Given the description of an element on the screen output the (x, y) to click on. 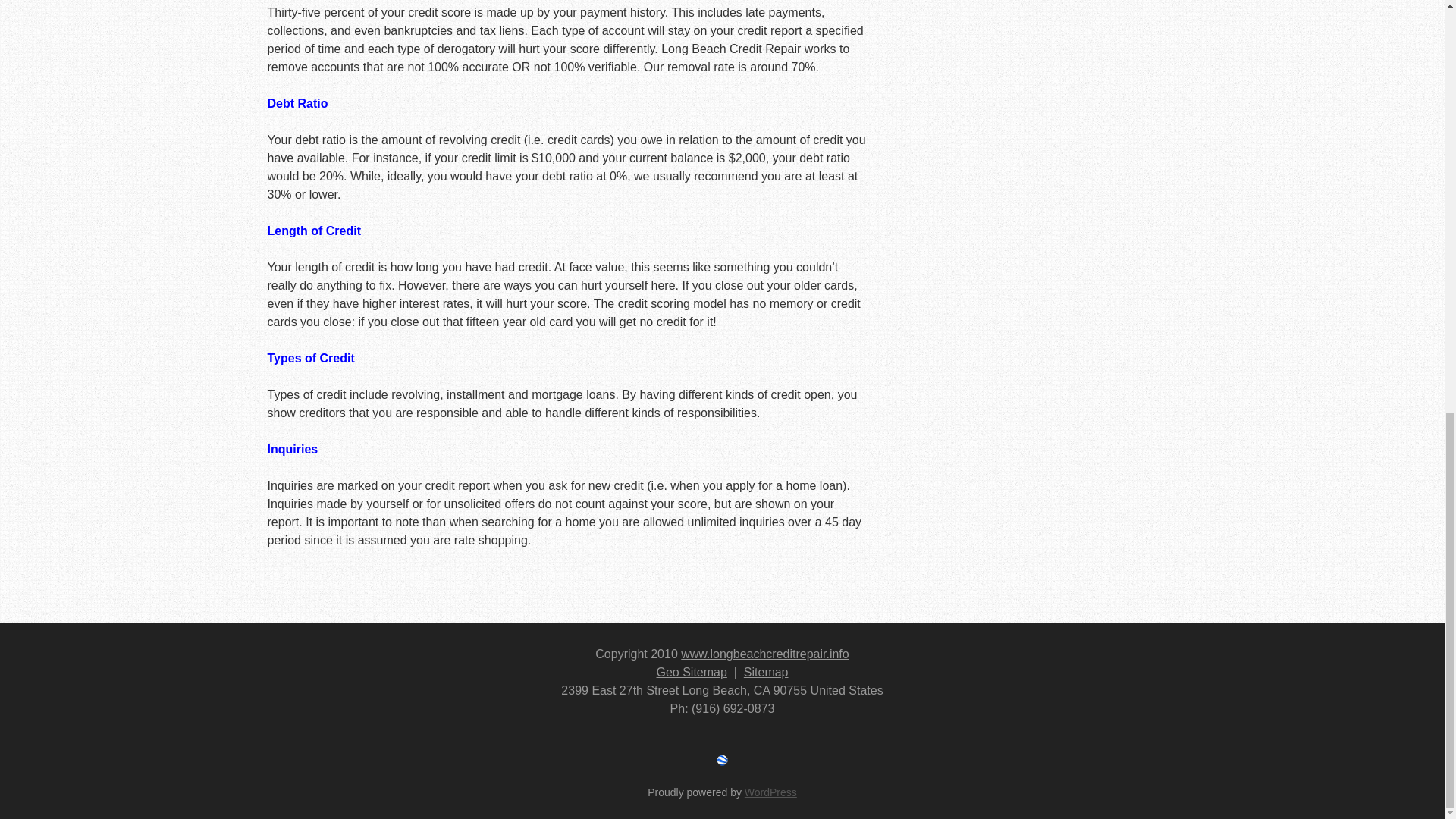
Semantic Personal Publishing Platform (770, 792)
Geo Sitemap (691, 671)
www.longbeachcreditrepair.info (764, 653)
WordPress (770, 792)
Sitemap (766, 671)
